Given the description of an element on the screen output the (x, y) to click on. 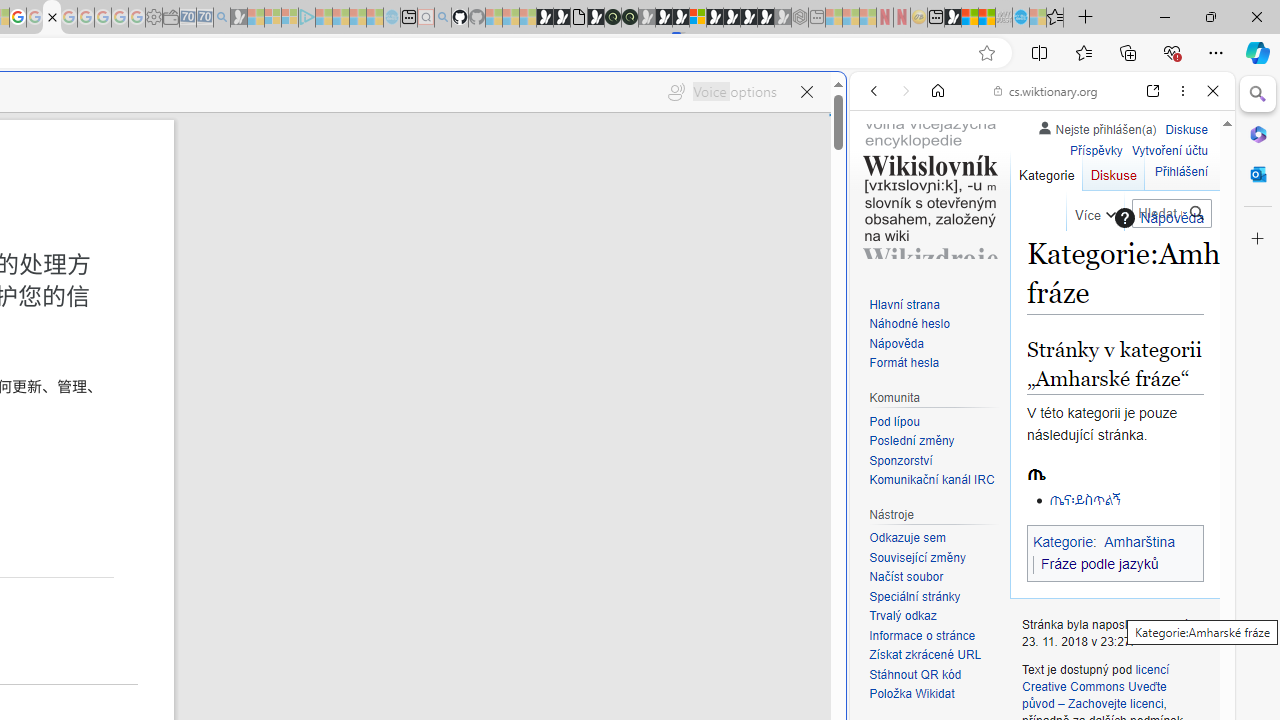
Diskuse (1113, 170)
Earth has six continents not seven, radical new study claims (986, 17)
Hledat (1196, 213)
